Given the description of an element on the screen output the (x, y) to click on. 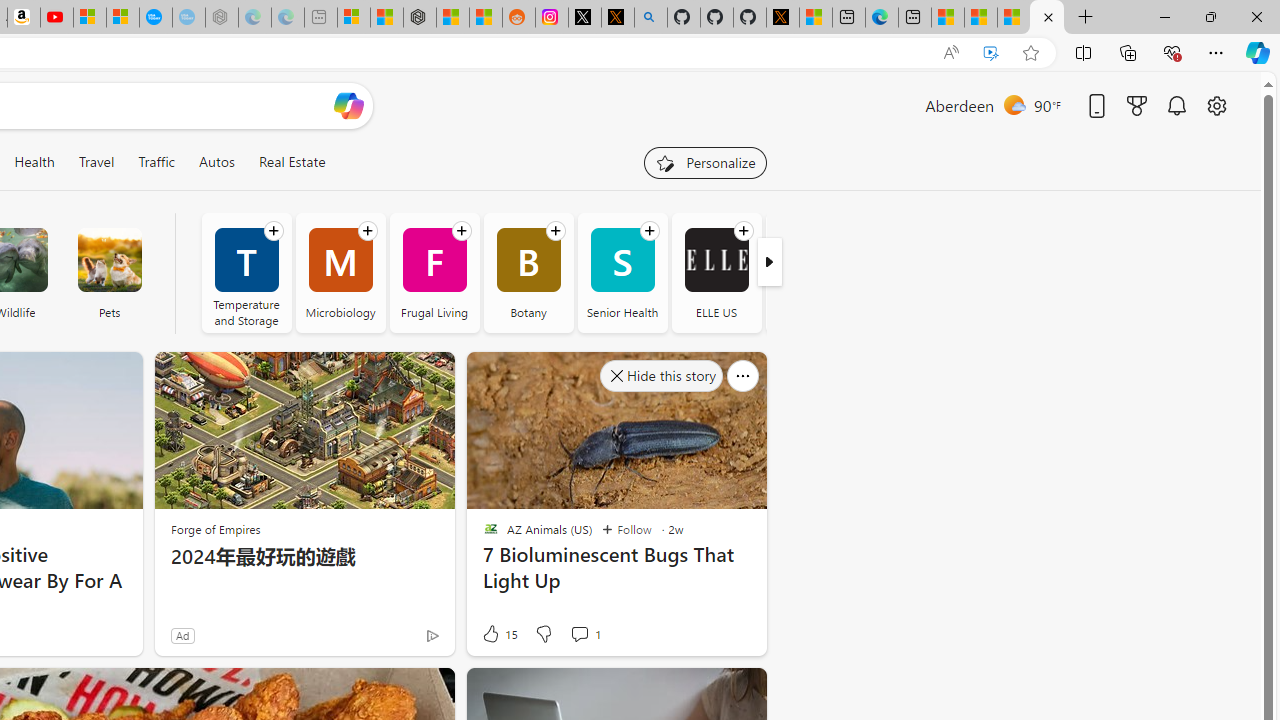
Follow (626, 529)
Open settings (1216, 105)
Mostly sunny (1014, 104)
github - Search (650, 17)
Microsoft account | Microsoft Account Privacy Settings (353, 17)
Shanghai, China Weather trends | Microsoft Weather (485, 17)
Travel (96, 162)
Microbiology (340, 272)
Welcome to Microsoft Edge (882, 17)
View comments 1 Comment (584, 633)
Pets (109, 272)
Follow channel (743, 231)
Health (34, 161)
